Given the description of an element on the screen output the (x, y) to click on. 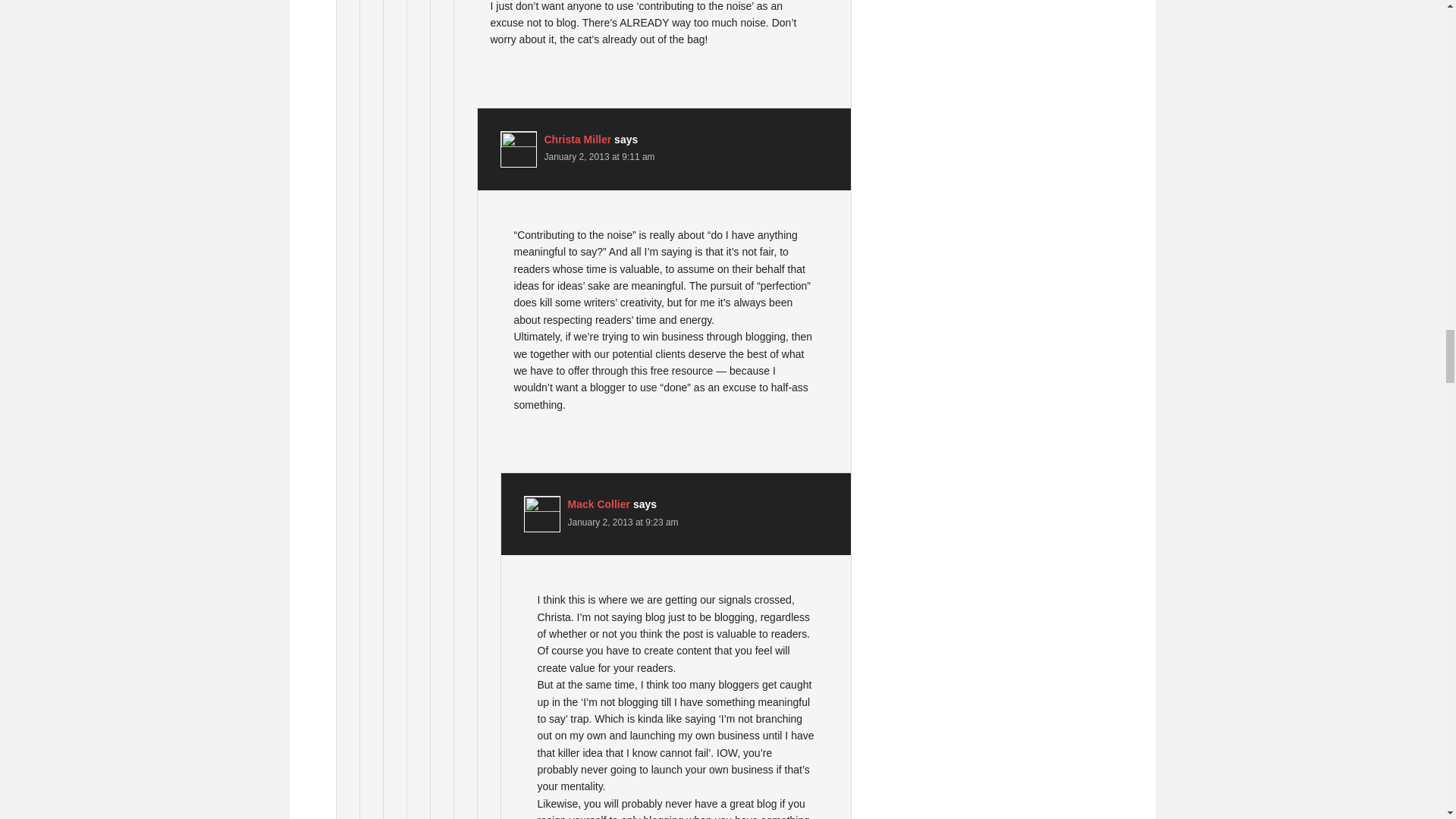
Mack Collier (597, 503)
January 2, 2013 at 9:11 am (599, 156)
Christa Miller (577, 139)
